Given the description of an element on the screen output the (x, y) to click on. 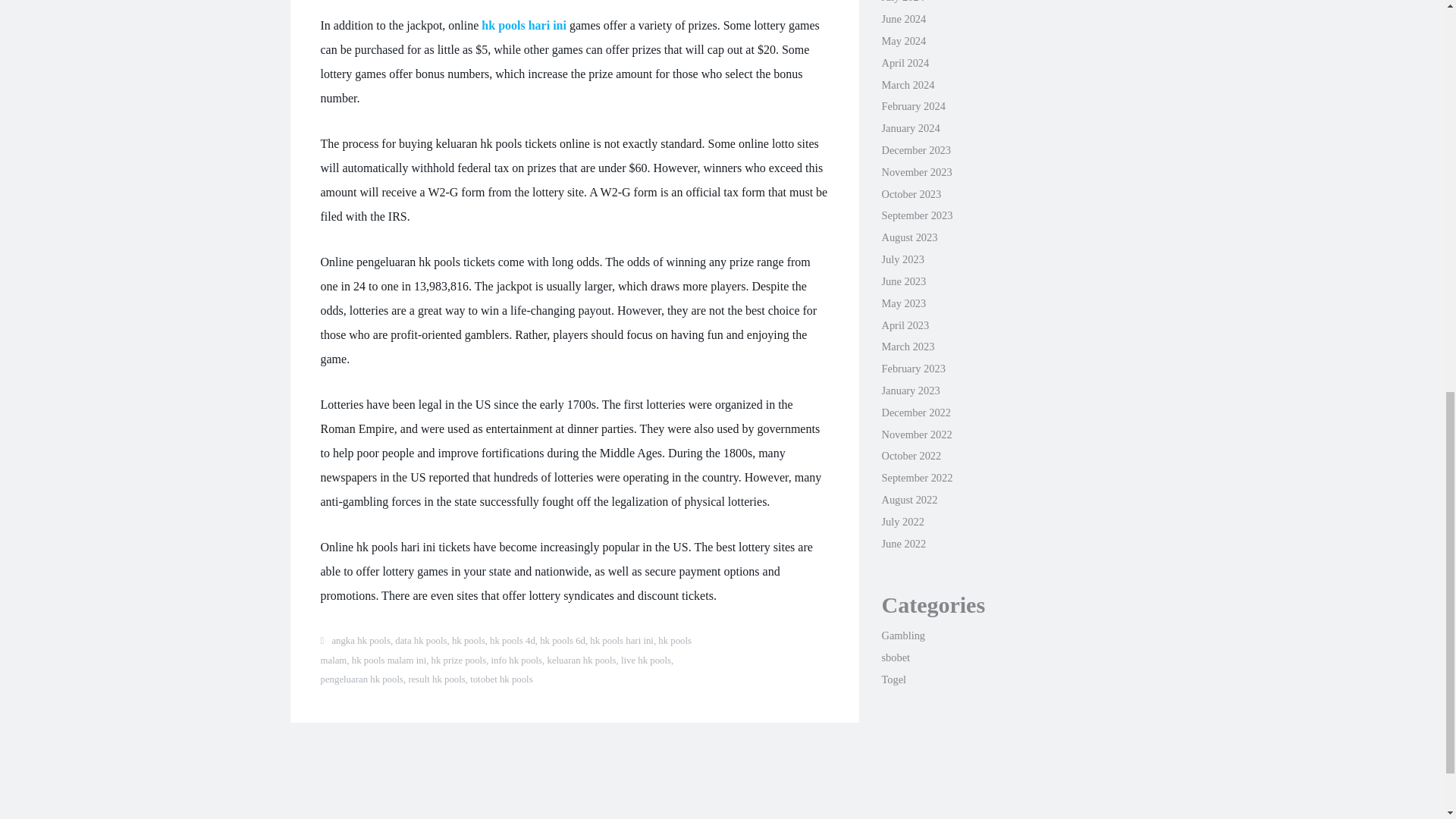
hk pools malam (505, 650)
April 2024 (904, 62)
hk pools hari ini (621, 640)
totobet hk pools (501, 679)
May 2024 (903, 40)
data hk pools (420, 640)
hk pools 4d (512, 640)
info hk pools (517, 660)
hk prize pools (458, 660)
pengeluaran hk pools (361, 679)
angka hk pools (360, 640)
keluaran hk pools (581, 660)
June 2024 (903, 19)
hk pools 6d (562, 640)
July 2024 (901, 1)
